Given the description of an element on the screen output the (x, y) to click on. 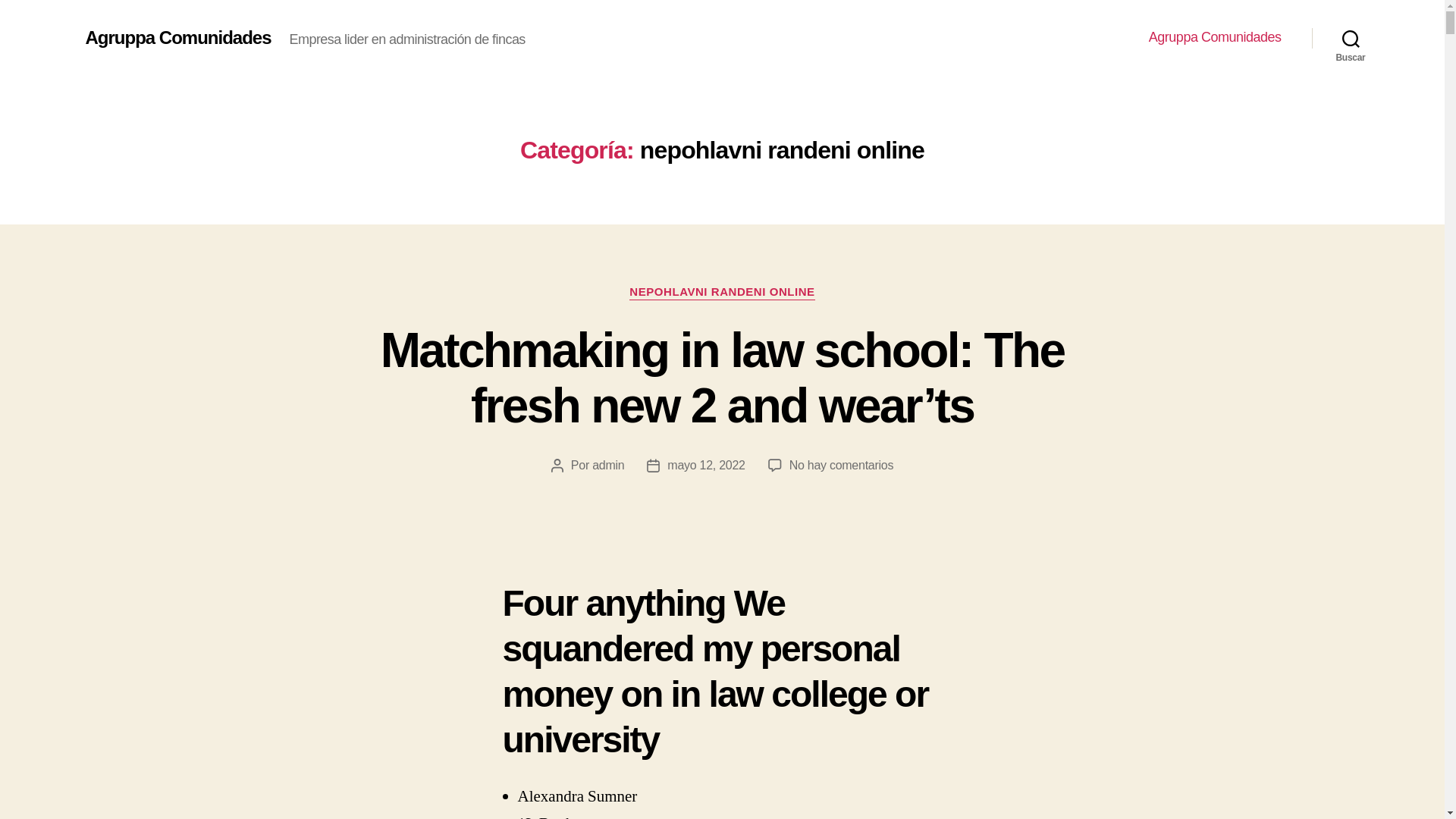
Agruppa Comunidades (1214, 37)
NEPOHLAVNI RANDENI ONLINE (720, 292)
mayo 12, 2022 (705, 464)
Agruppa Comunidades (177, 37)
admin (608, 464)
Buscar (1350, 37)
